Given the description of an element on the screen output the (x, y) to click on. 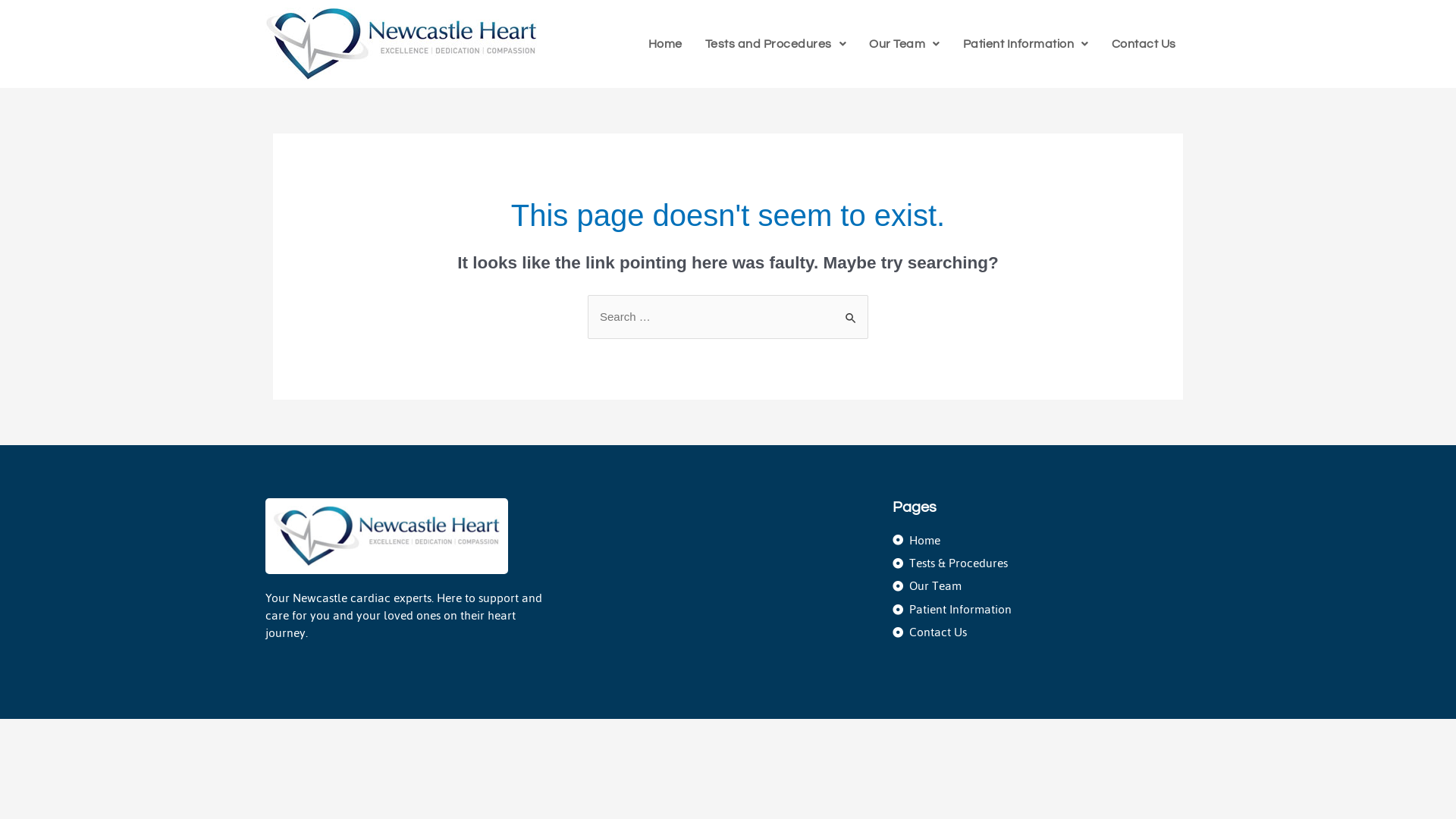
Tests & Procedures Element type: text (1041, 562)
Tests and Procedures Element type: text (775, 43)
Our Team Element type: text (904, 43)
Patient Information Element type: text (1025, 43)
Contact Us Element type: text (1041, 631)
Contact Us Element type: text (1143, 43)
Our Team Element type: text (1041, 585)
Home Element type: text (1041, 540)
Home Element type: text (665, 43)
Search Element type: text (851, 310)
Patient Information Element type: text (1041, 609)
